Given the description of an element on the screen output the (x, y) to click on. 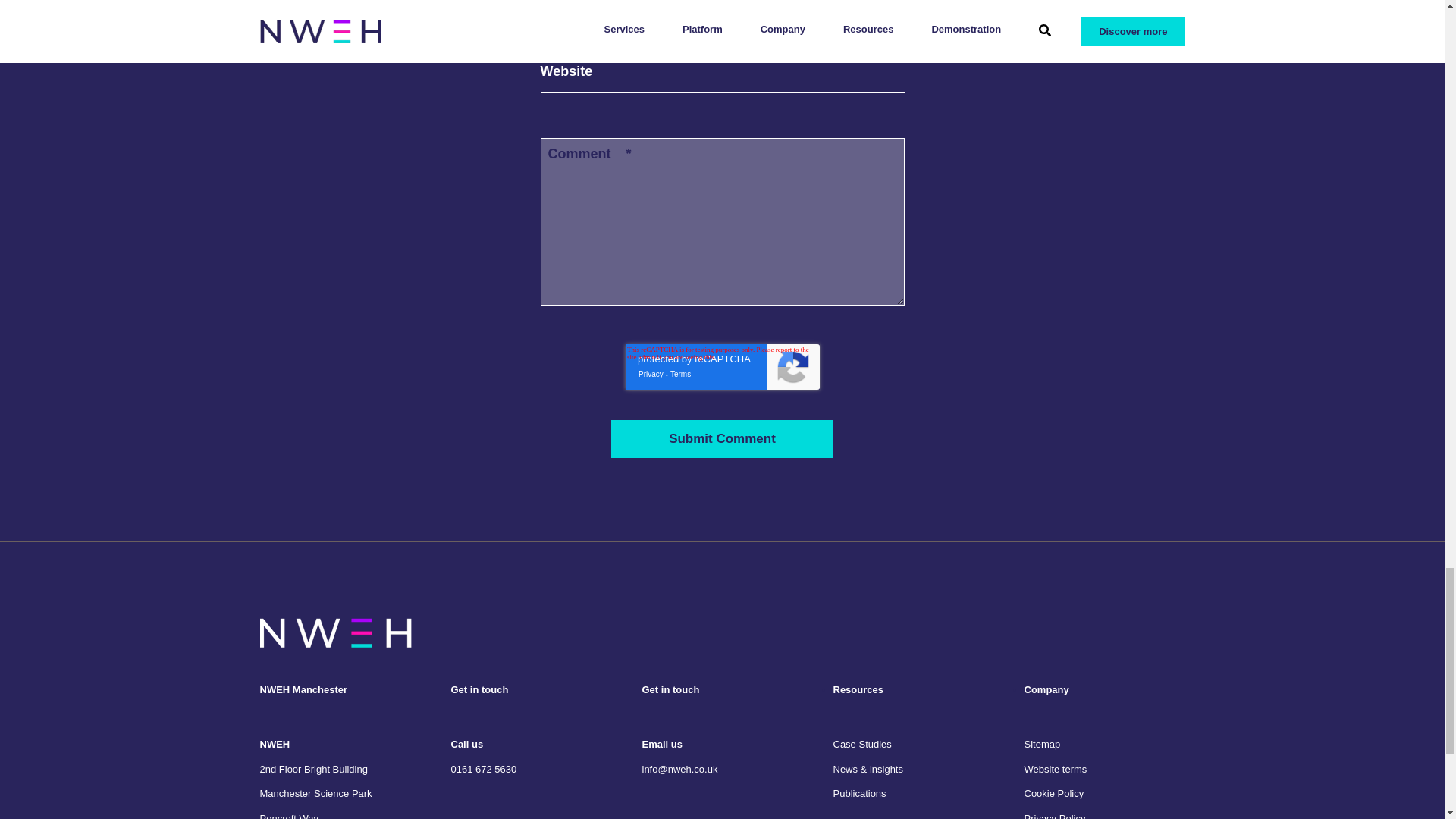
reCAPTCHA (721, 366)
Submit Comment (721, 438)
NWEH (334, 632)
